Given the description of an element on the screen output the (x, y) to click on. 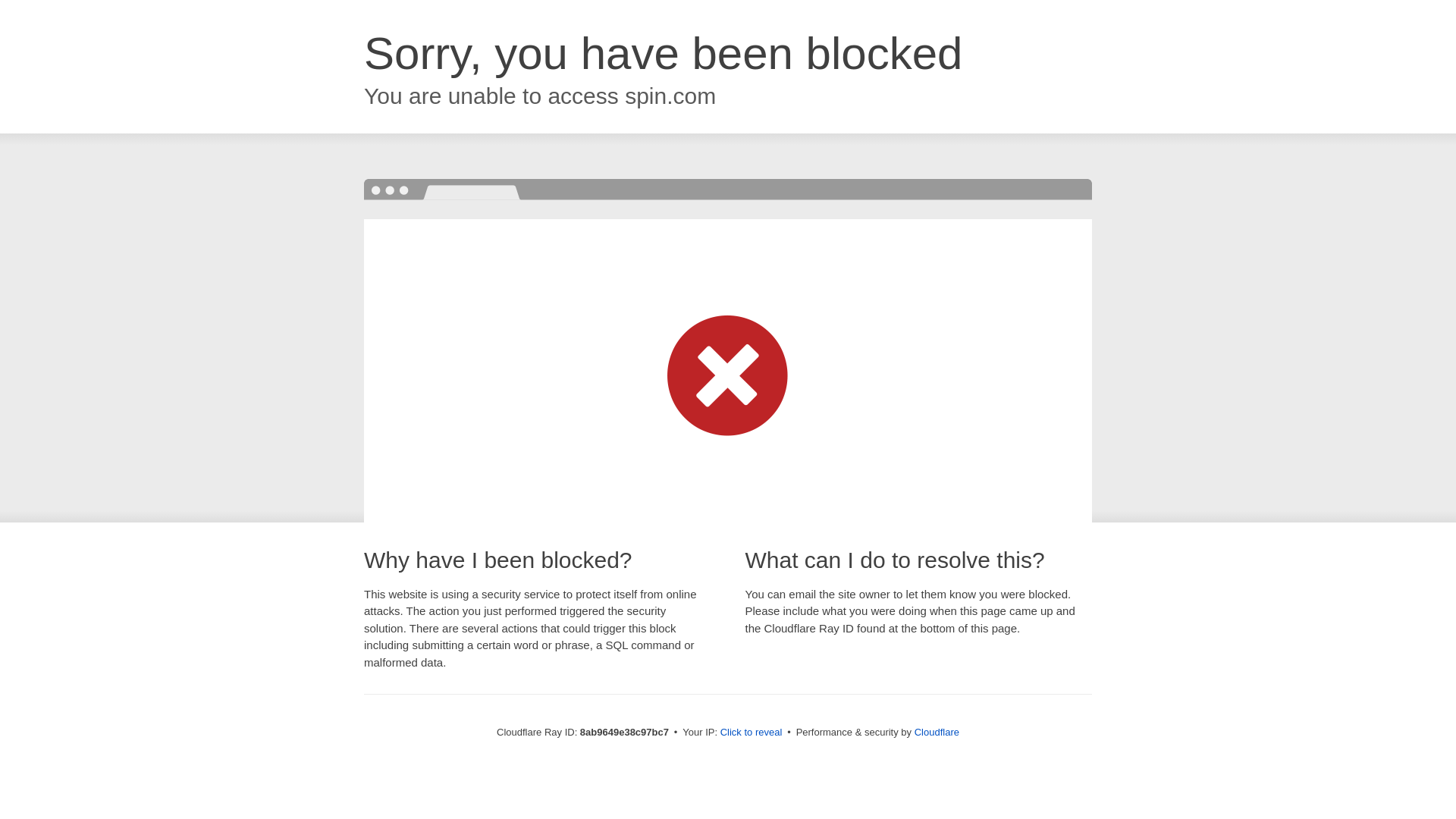
Click to reveal (751, 732)
Cloudflare (936, 731)
